Given the description of an element on the screen output the (x, y) to click on. 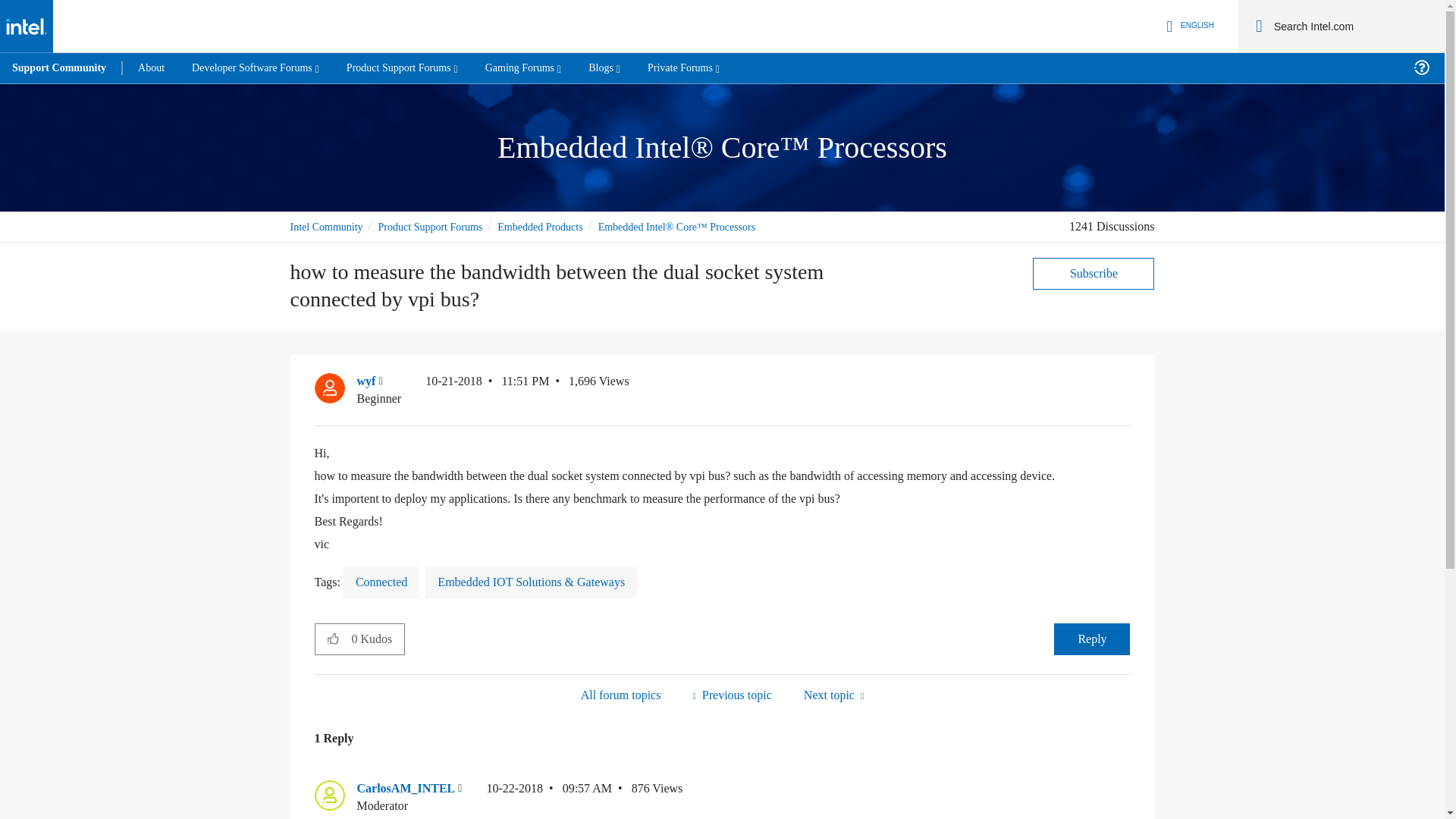
About (150, 68)
The total number of kudos this post has received. (377, 639)
Posted on (486, 390)
Search (1259, 26)
wyf (328, 388)
Posted on (548, 797)
UART is through PCIe ? (731, 694)
Support Community (58, 68)
Click here to give kudos to this post. (332, 638)
Language Selector (1187, 26)
